Given the description of an element on the screen output the (x, y) to click on. 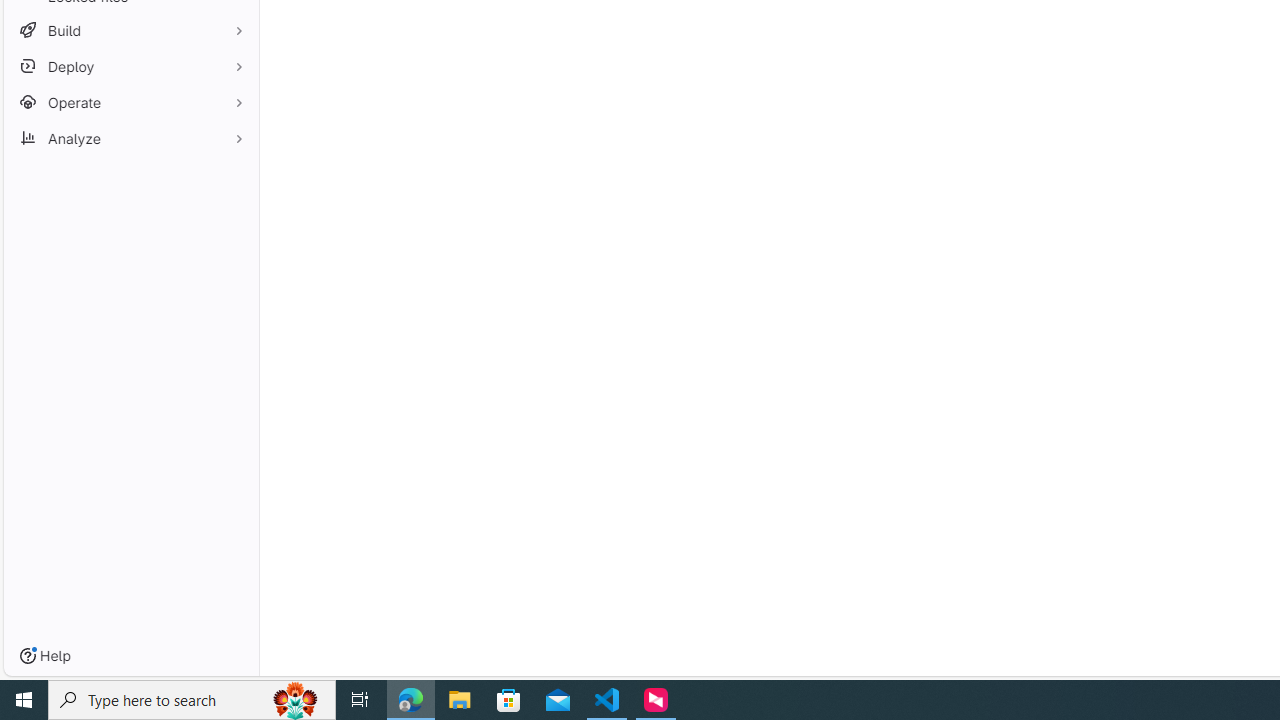
Analyze (130, 137)
Build (130, 29)
Deploy (130, 65)
Analyze (130, 137)
Operate (130, 101)
Deploy (130, 65)
Operate (130, 101)
Build (130, 29)
